Given the description of an element on the screen output the (x, y) to click on. 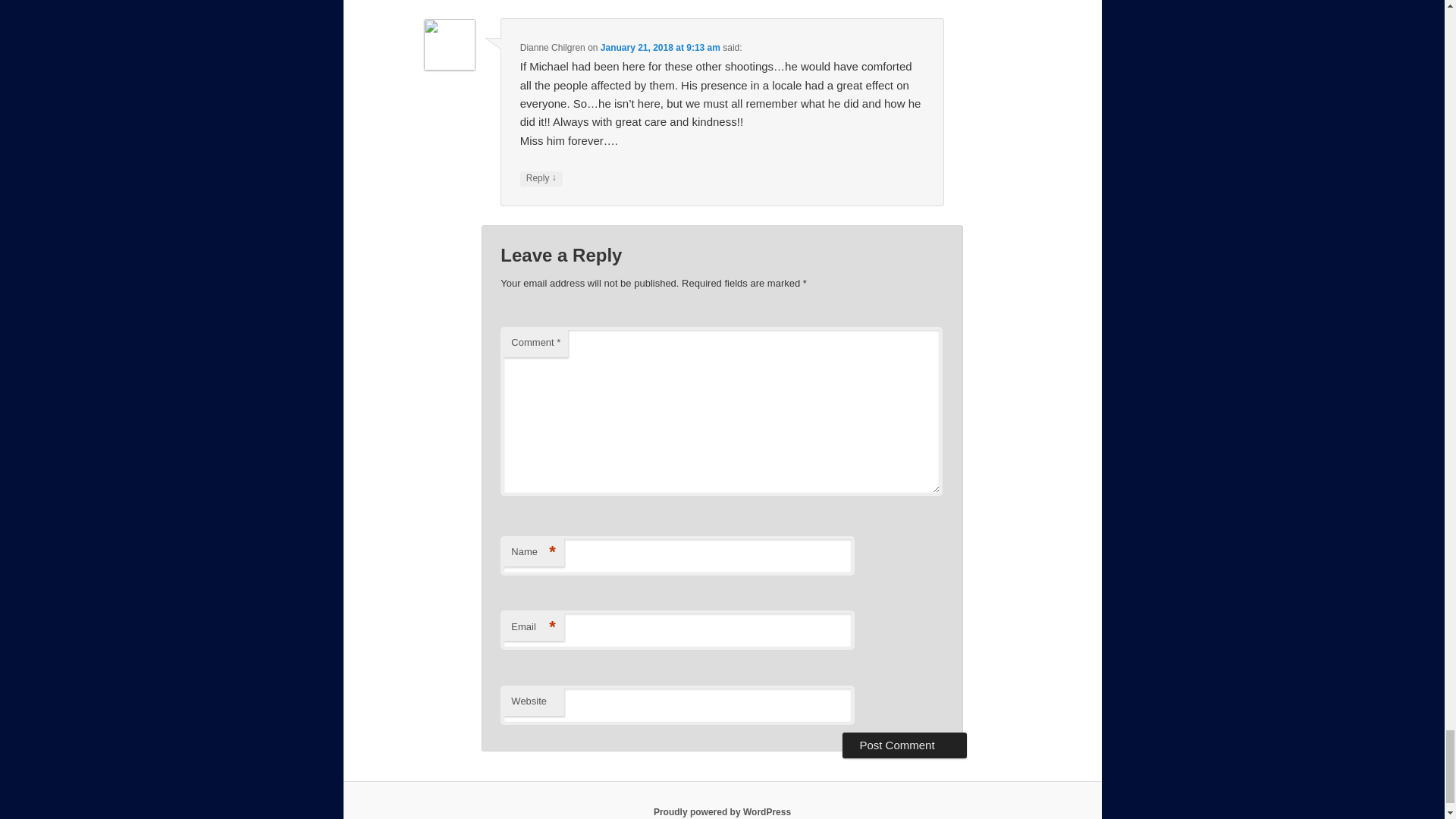
Semantic Personal Publishing Platform (721, 811)
Post Comment (904, 745)
